Given the description of an element on the screen output the (x, y) to click on. 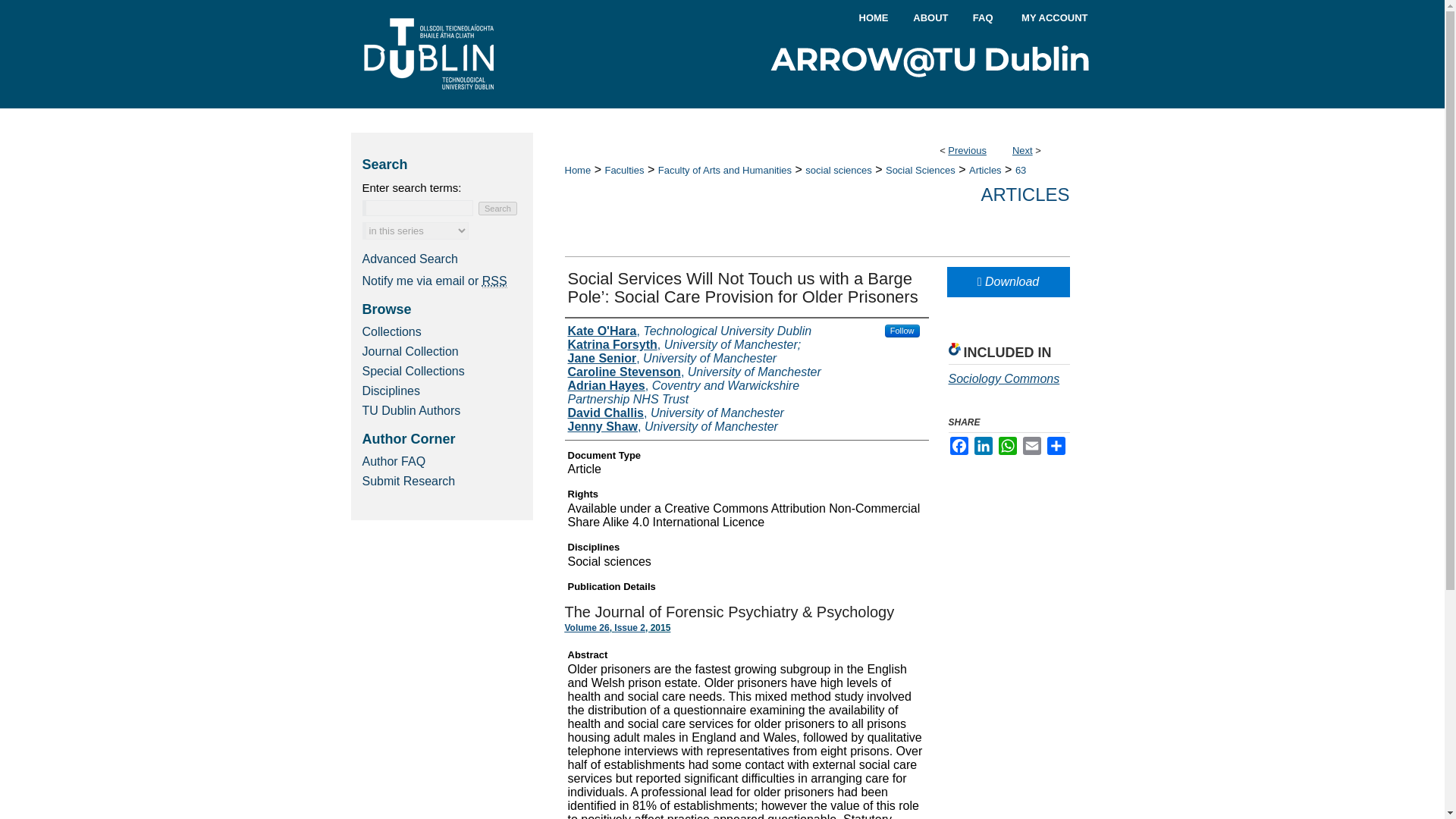
Email or RSS Notifications (442, 281)
Really Simple Syndication (493, 281)
Kate O'Hara, Technological University Dublin (688, 331)
Follow Kate O'Hara (902, 330)
ARTICLES (1025, 194)
Previous (967, 150)
About (930, 18)
HOME (873, 18)
Sociology Commons (1003, 378)
Jane Senior, University of Manchester (671, 358)
Search (497, 208)
Home (873, 18)
63 (1020, 170)
Katrina Forsyth, University of Manchester; (683, 345)
Caroline Stevenson, University of Manchester (694, 372)
